Given the description of an element on the screen output the (x, y) to click on. 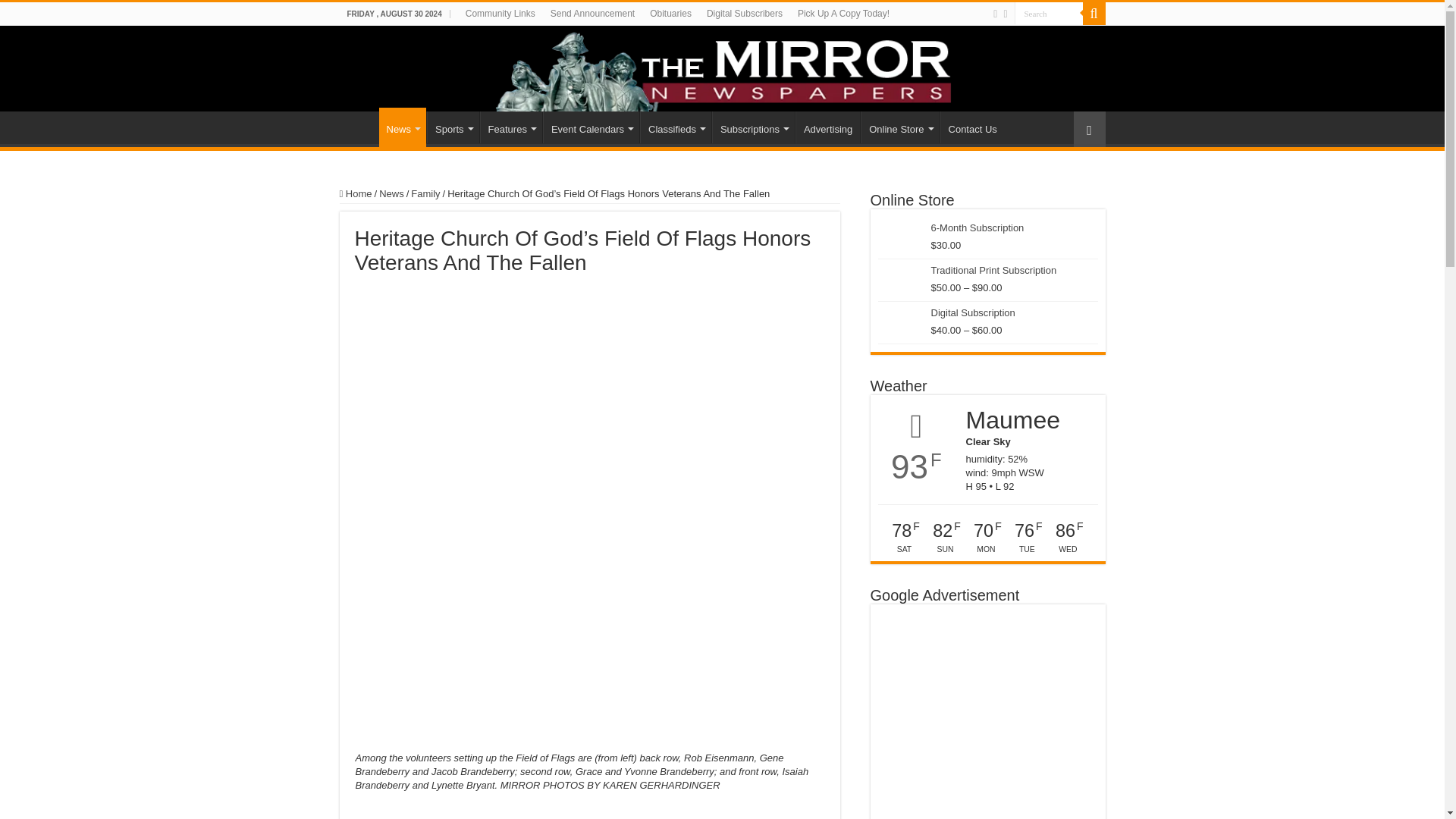
Pick Up A Copy Today! (843, 13)
Search (1048, 13)
Digital Subscribers (744, 13)
Event Calendars (591, 127)
Obituaries (670, 13)
News (402, 127)
Search (1048, 13)
Send Announcement (592, 13)
Search (1048, 13)
Sports (452, 127)
